Given the description of an element on the screen output the (x, y) to click on. 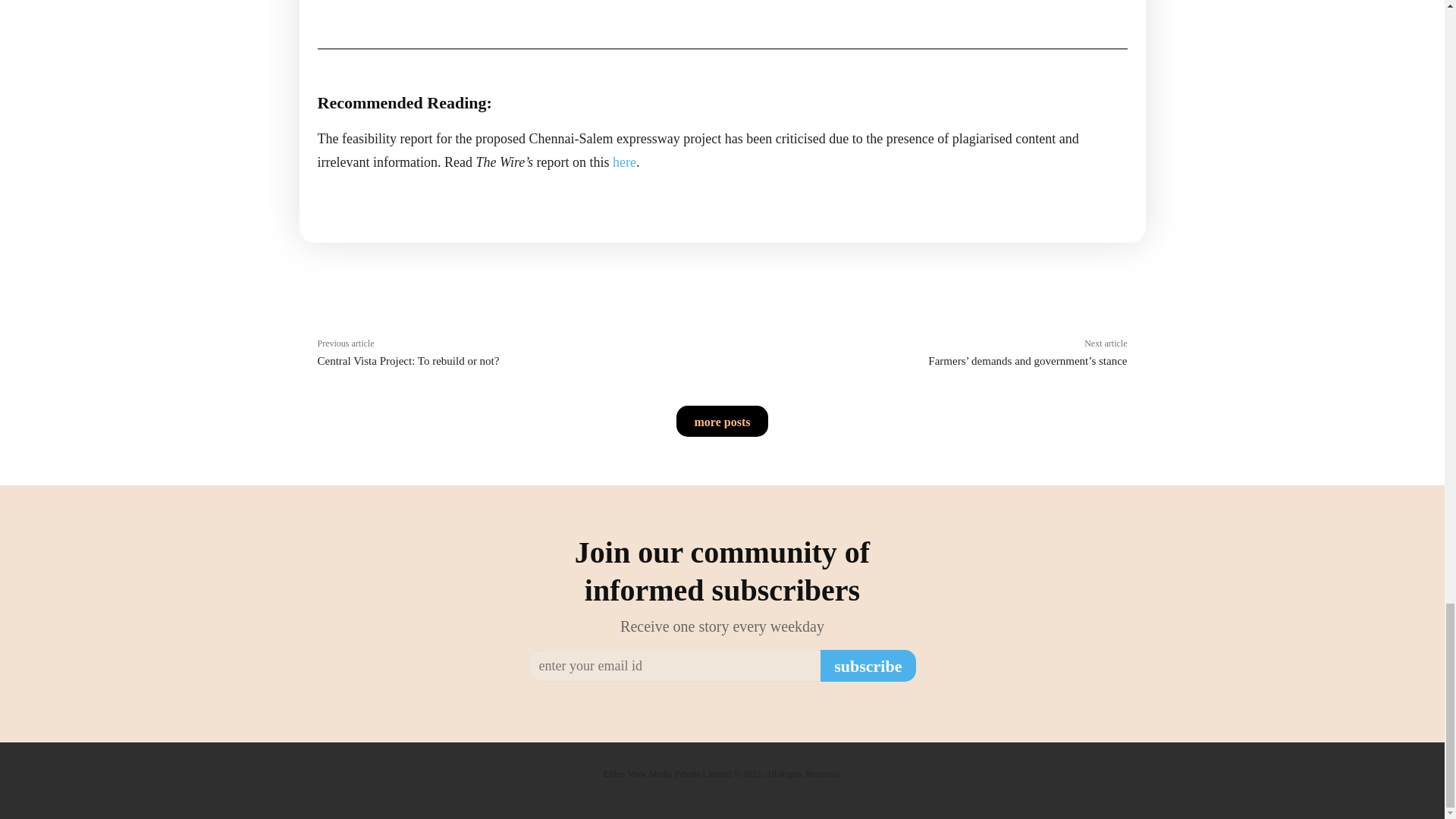
Central Vista Project: To rebuild or not? (408, 360)
here (624, 161)
subscribe (868, 665)
More Posts (722, 420)
more posts (722, 420)
